Given the description of an element on the screen output the (x, y) to click on. 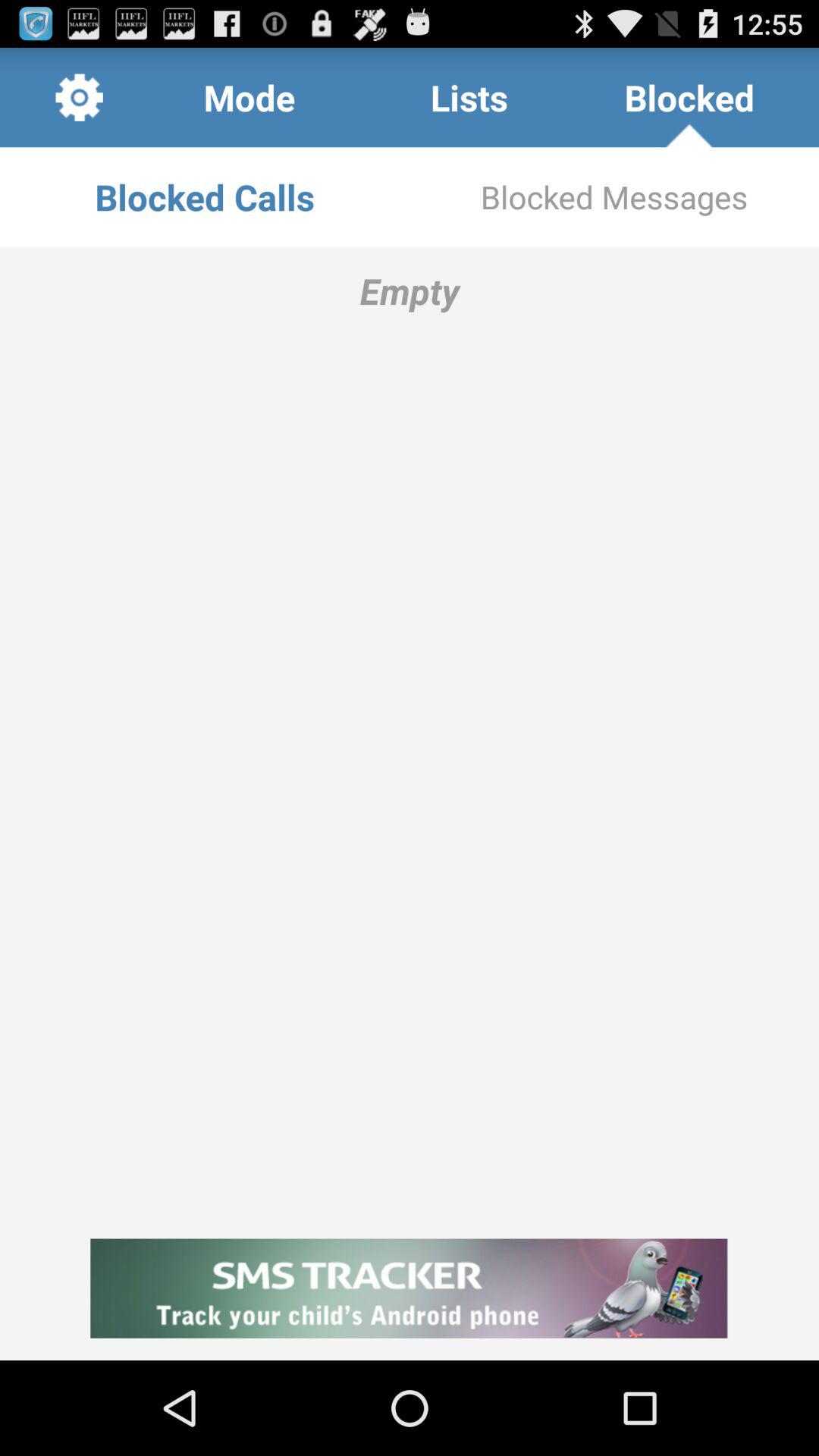
swipe to blocked calls (204, 196)
